Given the description of an element on the screen output the (x, y) to click on. 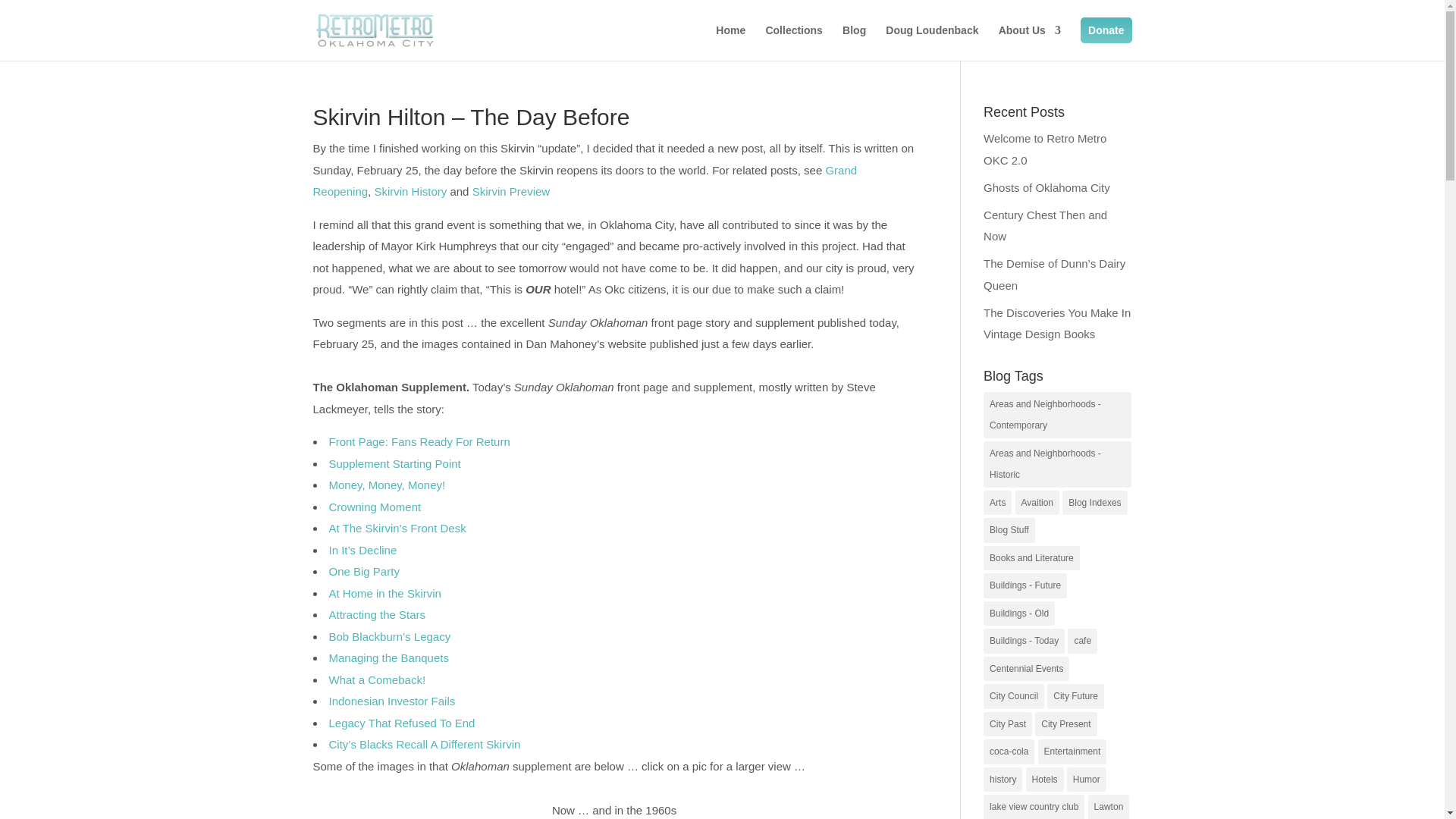
At Home in the Skirvin (385, 593)
Skirvin History (410, 191)
Supplement Starting Point (395, 462)
Money, Money, Money! (387, 484)
Doug Loudenback (931, 42)
Collections (793, 42)
Grand Reopening (585, 181)
One Big Party (363, 571)
Front Page: Fans Ready For Return (420, 440)
Managing the Banquets (388, 657)
Crowning Moment (375, 506)
Skirvin Preview (510, 191)
About Us (1029, 42)
Donate (1105, 30)
What a Comeback! (377, 679)
